Given the description of an element on the screen output the (x, y) to click on. 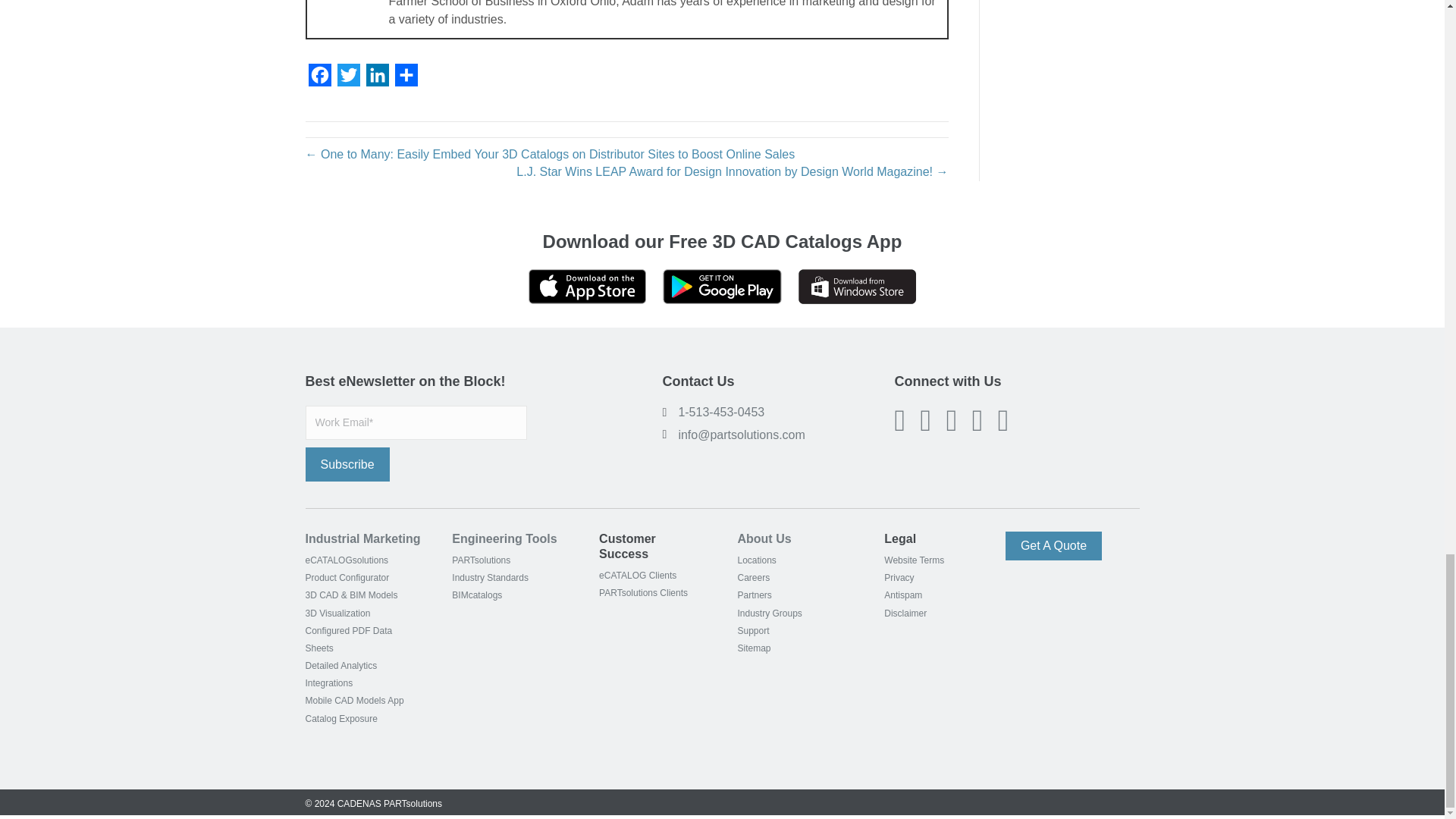
google-play-badge (721, 286)
Industrial Marketing (362, 538)
Facebook (318, 78)
apple-app-store-badge (587, 286)
About Us (763, 538)
windows-store-badge (857, 286)
Engineering Tools (503, 538)
Subscribe (346, 464)
LinkedIn (376, 78)
Twitter (347, 78)
